Given the description of an element on the screen output the (x, y) to click on. 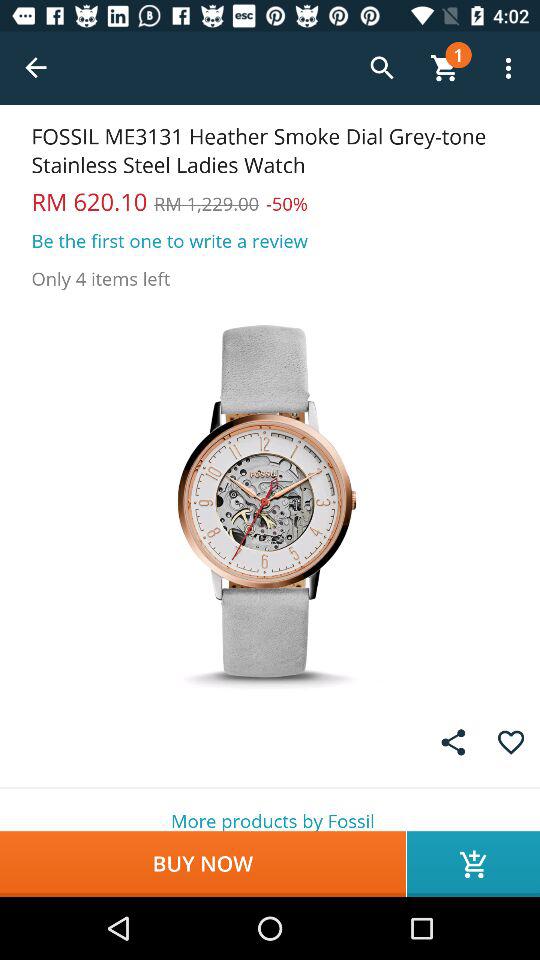
display of watch searched (269, 500)
